Given the description of an element on the screen output the (x, y) to click on. 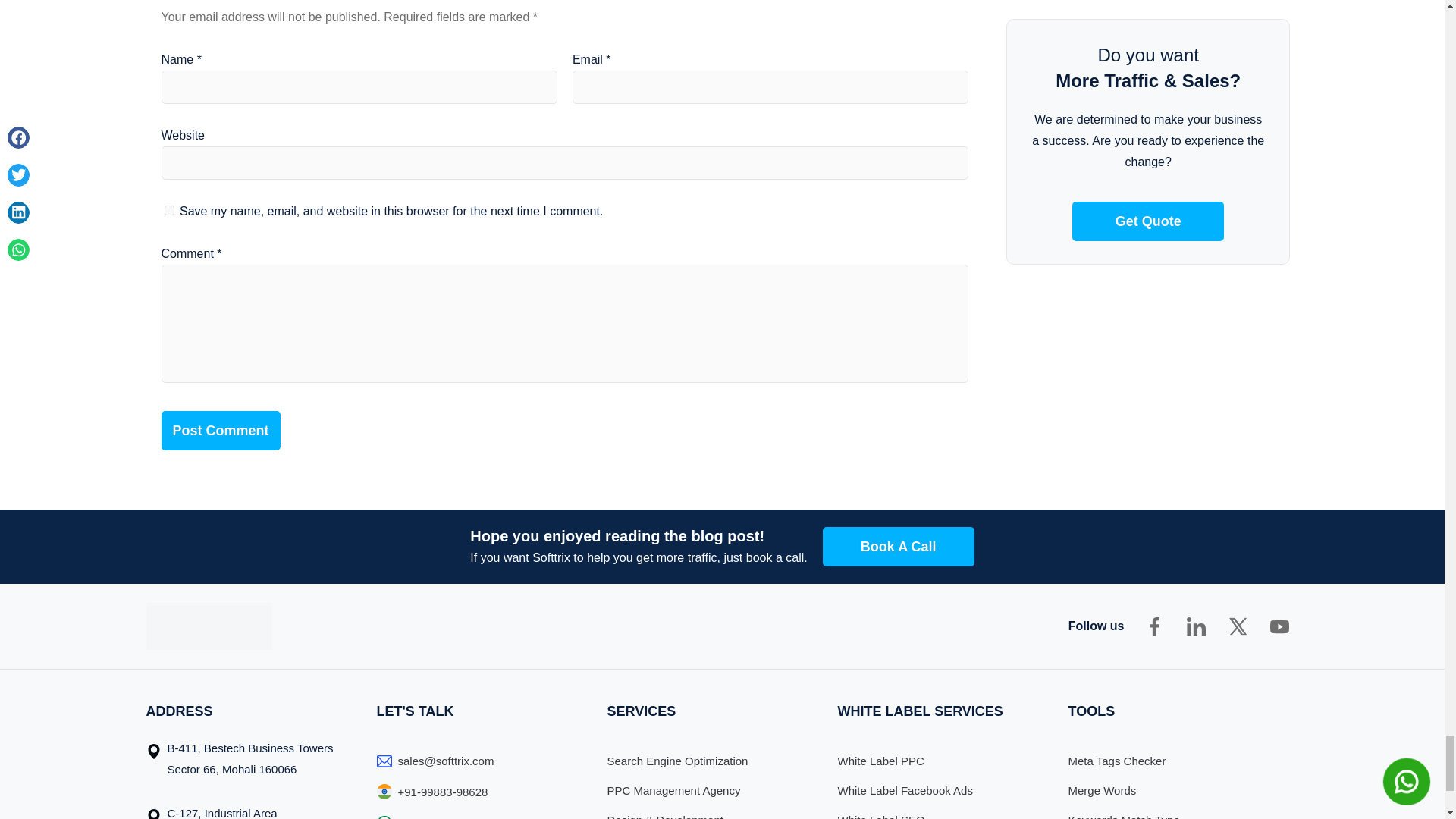
Post Comment (219, 430)
yes (168, 210)
